Given the description of an element on the screen output the (x, y) to click on. 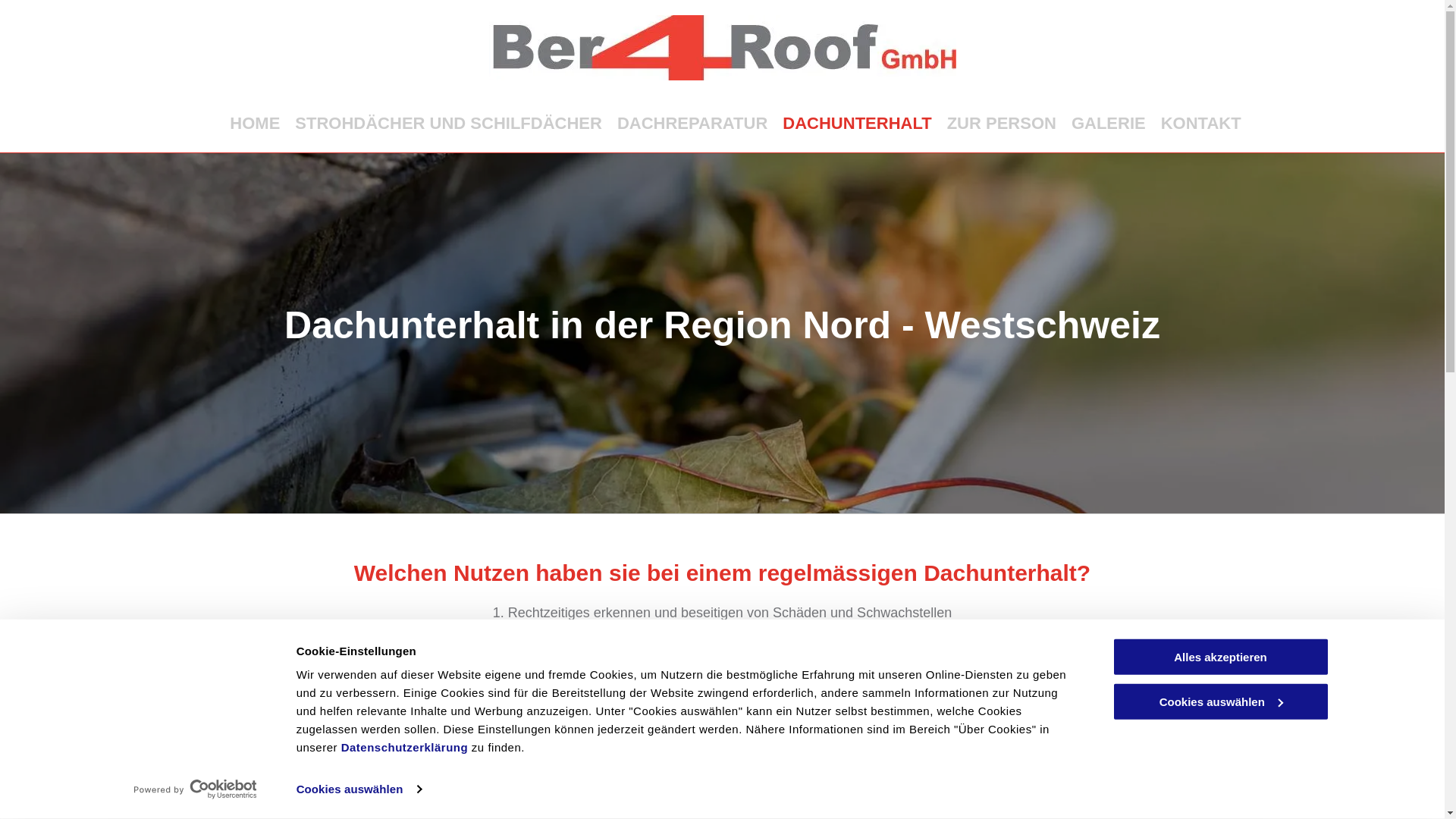
KONTAKT Element type: text (1201, 123)
GALERIE Element type: text (1108, 123)
Alles akzeptieren Element type: text (1219, 656)
ZUR PERSON Element type: text (1001, 123)
DACHUNTERHALT Element type: text (856, 123)
DACHREPARATUR Element type: text (692, 123)
HOME Element type: text (254, 123)
